Given the description of an element on the screen output the (x, y) to click on. 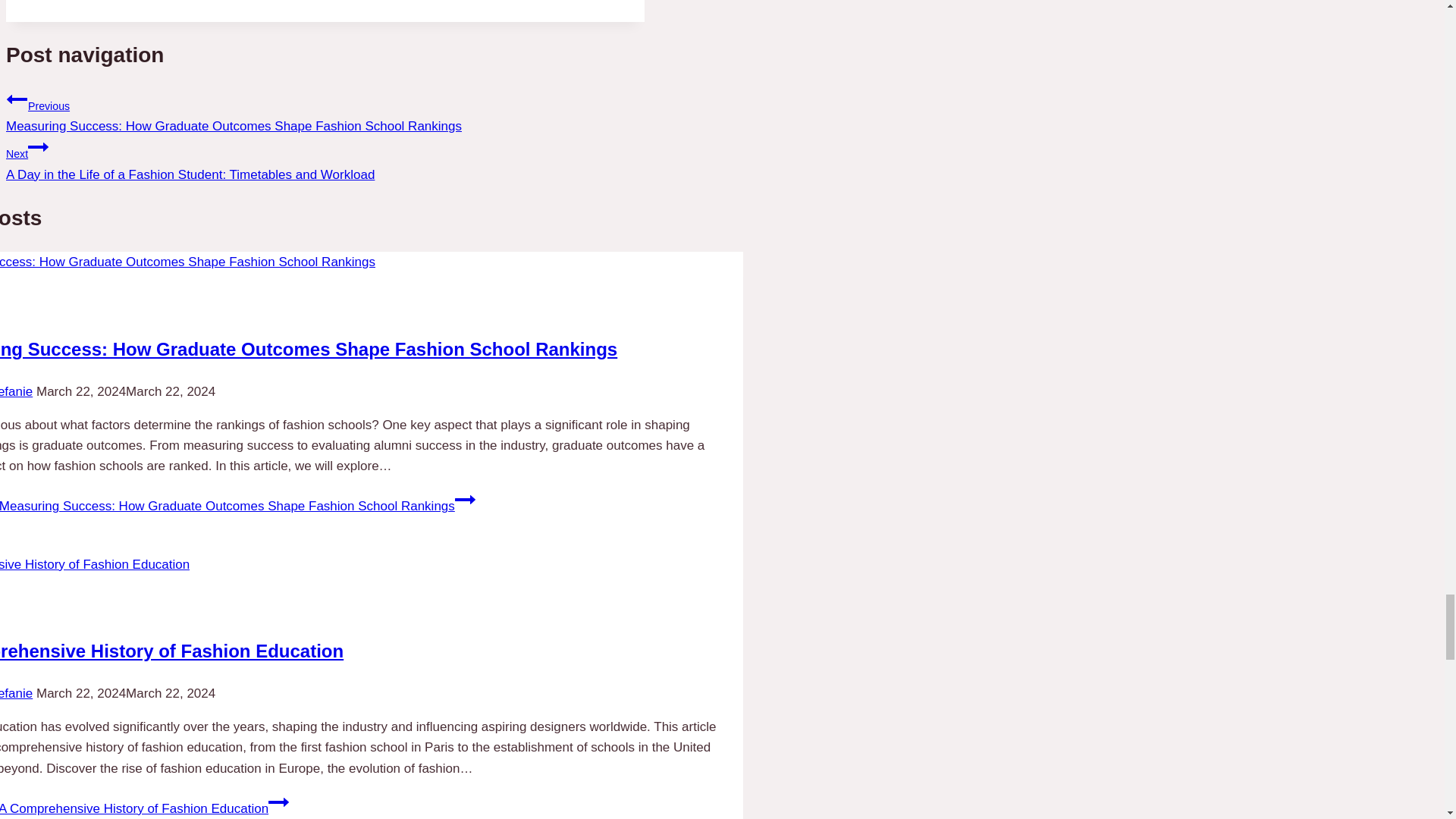
Previous (16, 98)
yasminstefanie (16, 391)
Continue (465, 499)
A Comprehensive History of Fashion Education (171, 650)
yasminstefanie (16, 693)
Continue (277, 802)
Continue (37, 147)
